Given the description of an element on the screen output the (x, y) to click on. 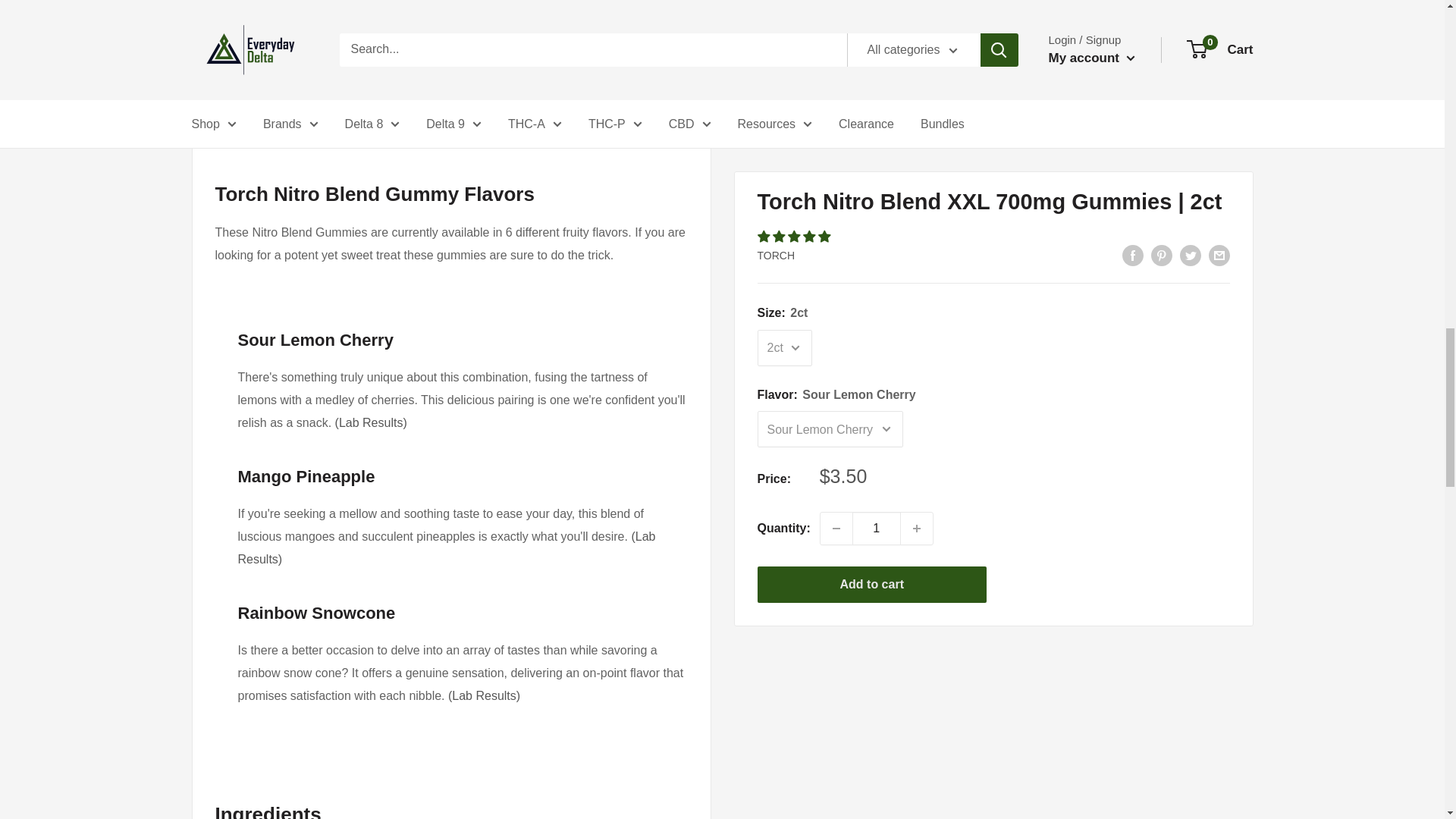
Torch Nitro Blend THCA Boosted XXL Gummies (483, 695)
Torch Nitro Blend THCA Boosted XXL Gummies (370, 422)
Torch Nitro Blend THCA Boosted XXL Gummies (447, 547)
